Given the description of an element on the screen output the (x, y) to click on. 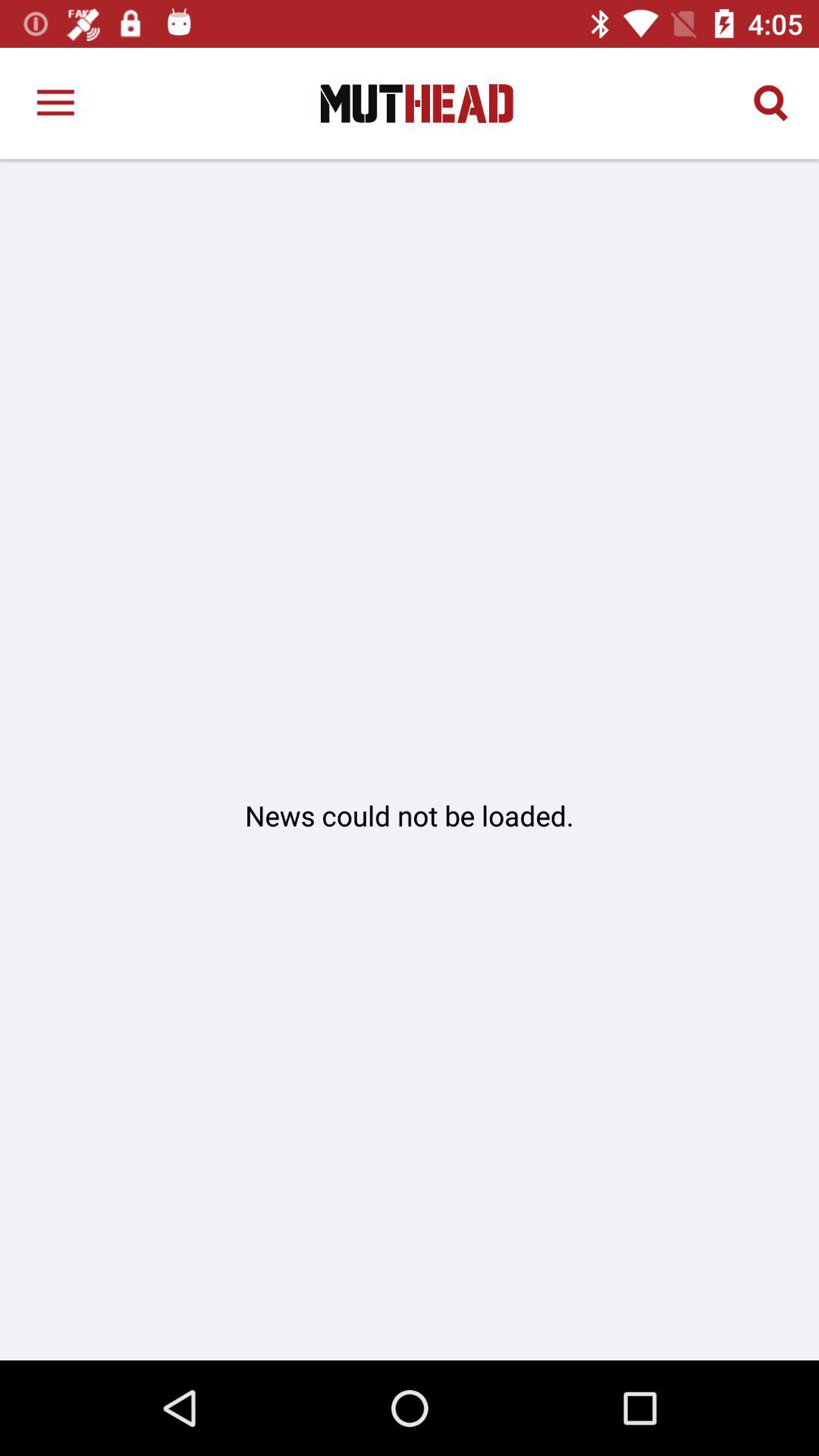
select the item at the top left corner (55, 103)
